Given the description of an element on the screen output the (x, y) to click on. 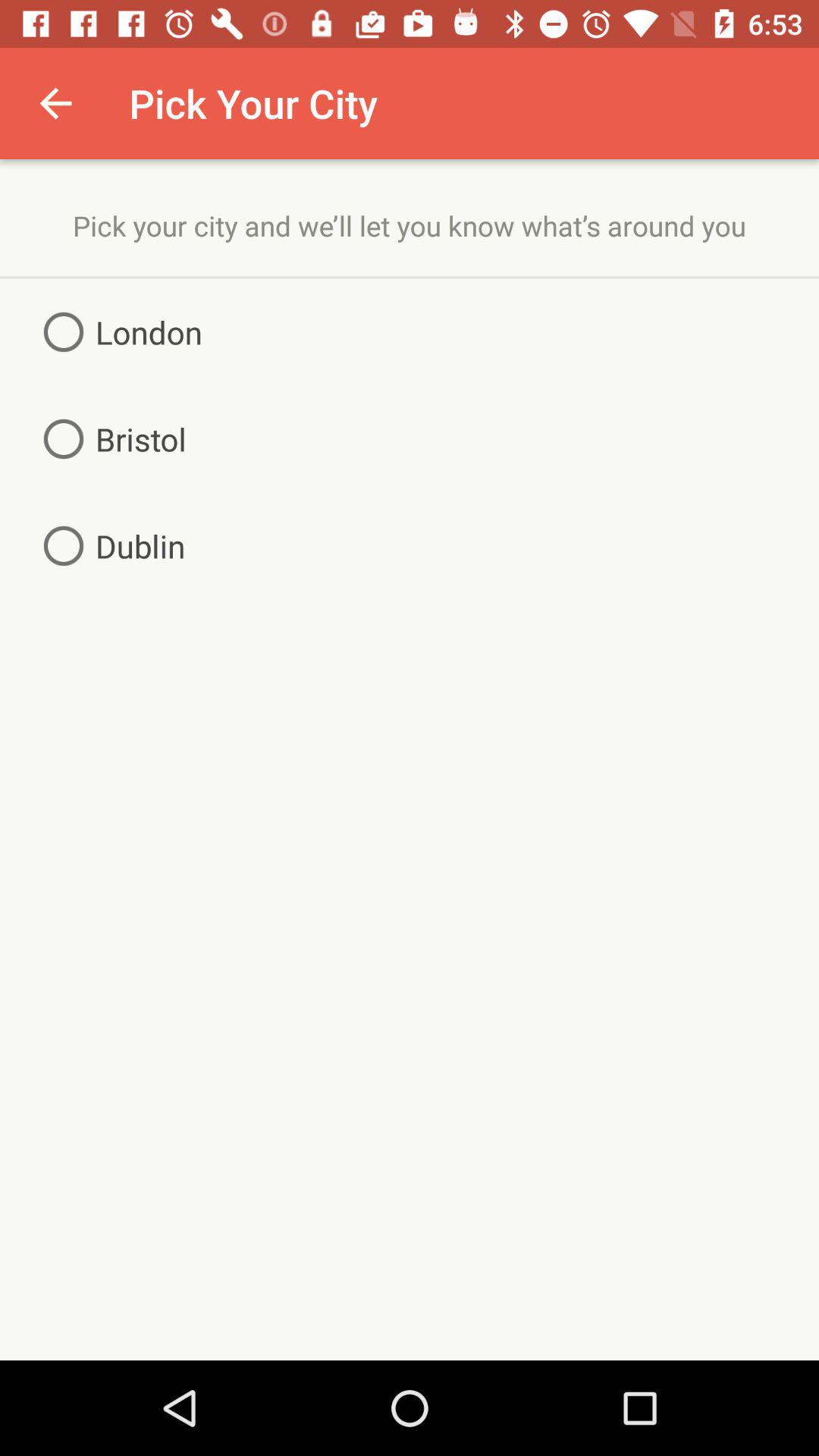
turn off item above bristol item (116, 331)
